Given the description of an element on the screen output the (x, y) to click on. 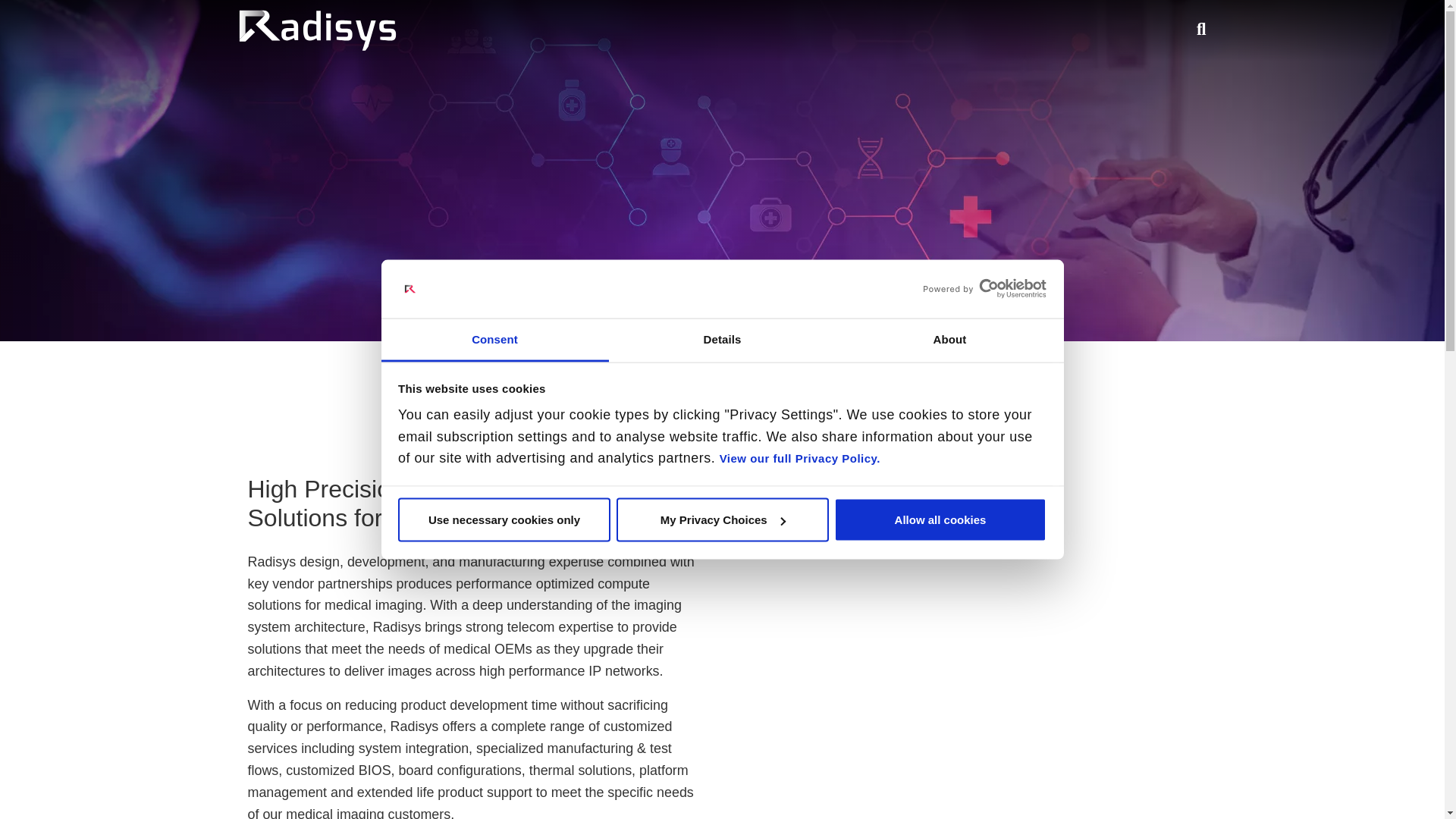
Consent (494, 339)
Details (721, 339)
About (948, 339)
View our full Privacy Policy. (799, 458)
